Given the description of an element on the screen output the (x, y) to click on. 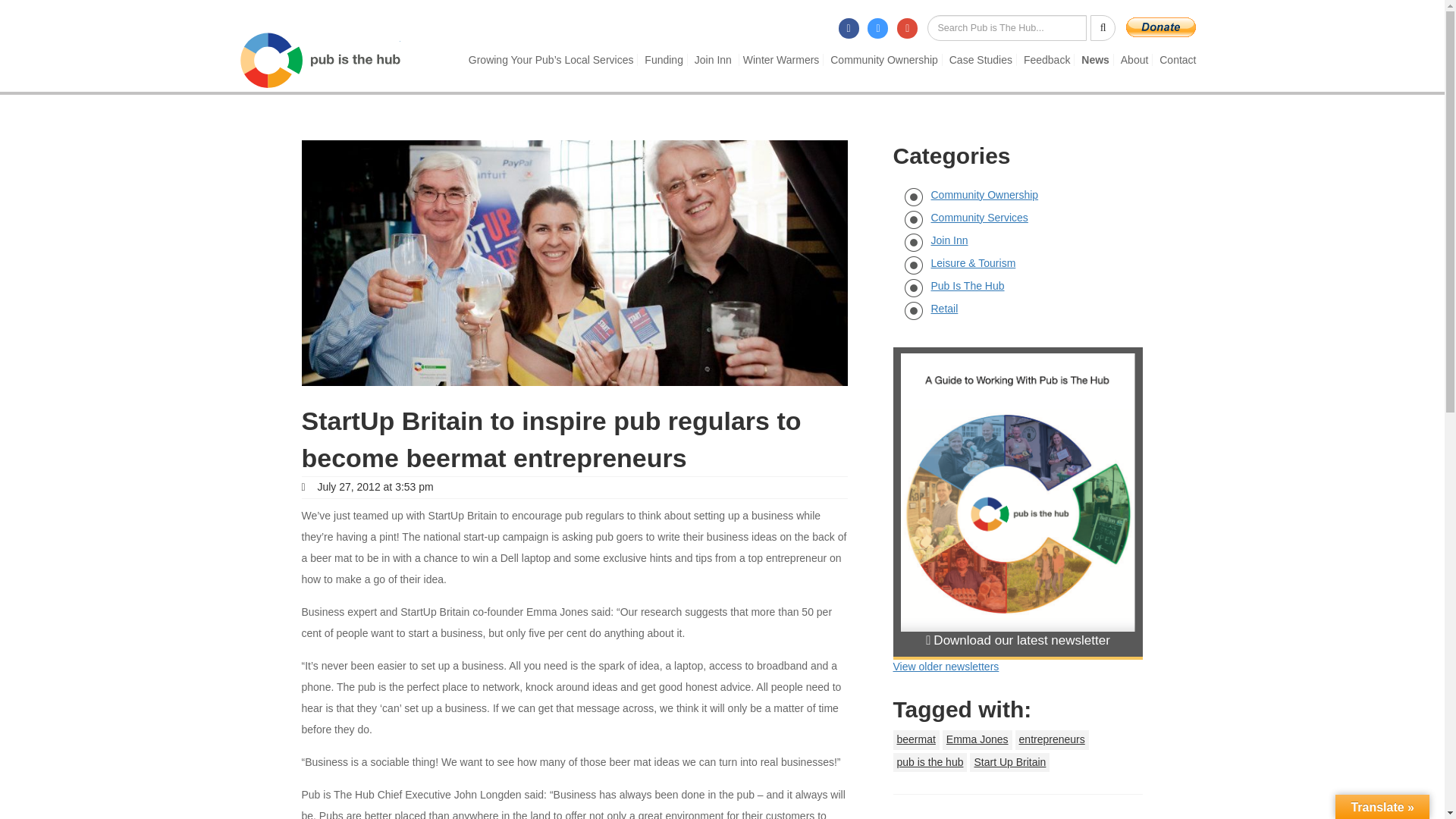
Follow Pub is The Hub on Twitter (886, 24)
Retail (944, 308)
pub is the hub (930, 762)
News (1095, 60)
Feedback (1046, 60)
Community Services (979, 217)
Winter Warmers (780, 60)
entrepreneurs (1051, 740)
View older newsletters (945, 666)
Contact (1176, 60)
Newsletter archive (945, 666)
Community Ownership (883, 60)
Pub Is The Hub (967, 285)
About (1134, 60)
Join Inn (713, 60)
